Given the description of an element on the screen output the (x, y) to click on. 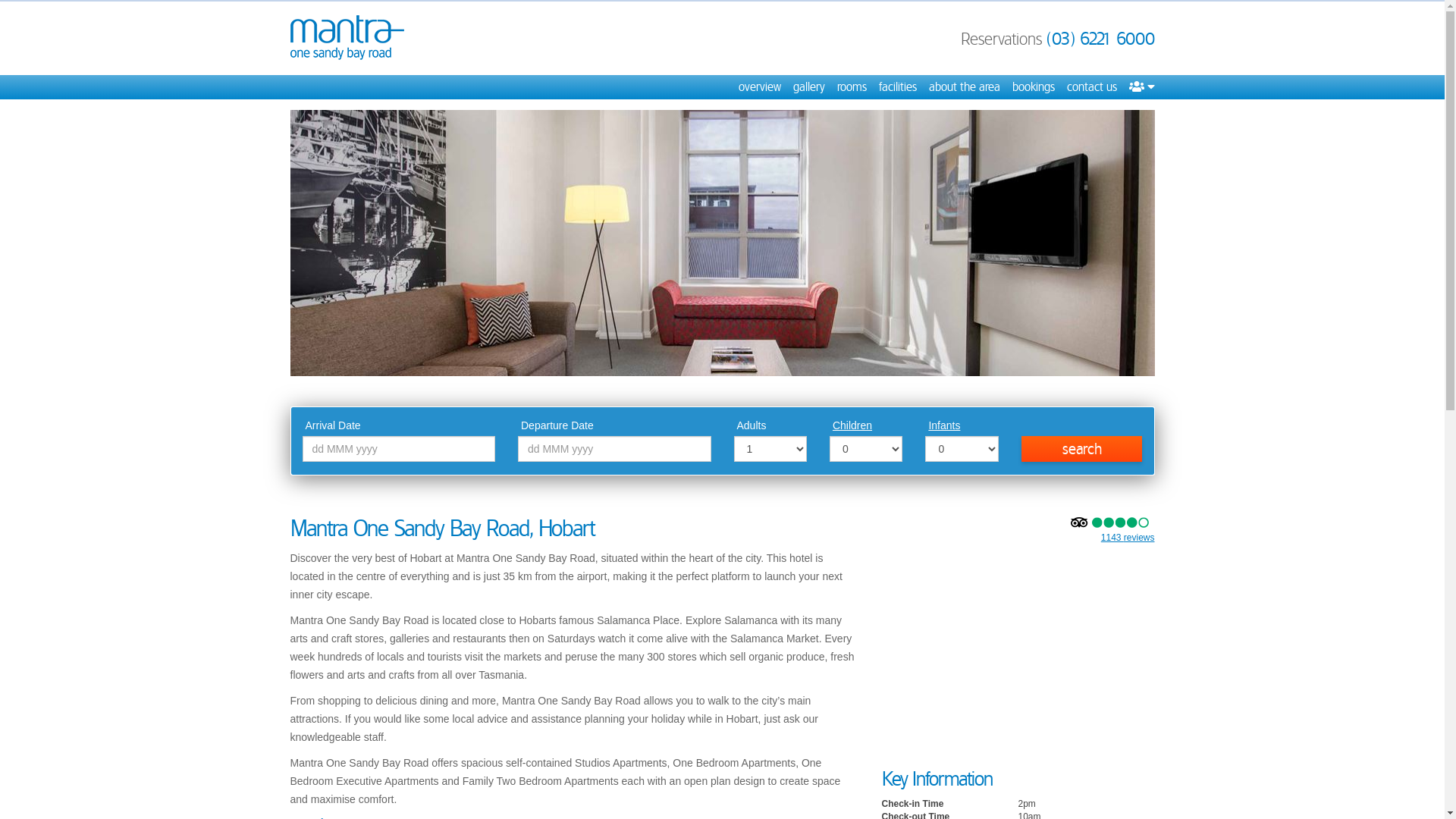
contact us Element type: text (1091, 87)
bookings Element type: text (1032, 87)
gallery Element type: text (809, 87)
Mantra One Sandy Bay Road Element type: hover (346, 37)
search Element type: text (1081, 448)
about the area Element type: text (963, 87)
1143 reviews Element type: text (1127, 537)
(03) 6221 6000 Element type: text (1100, 38)
One Bedroom Apartment Lounge-Mantra On Sandy Bay Road Element type: hover (721, 242)
rooms Element type: text (851, 87)
overview Element type: text (759, 87)
facilities Element type: text (897, 87)
